Given the description of an element on the screen output the (x, y) to click on. 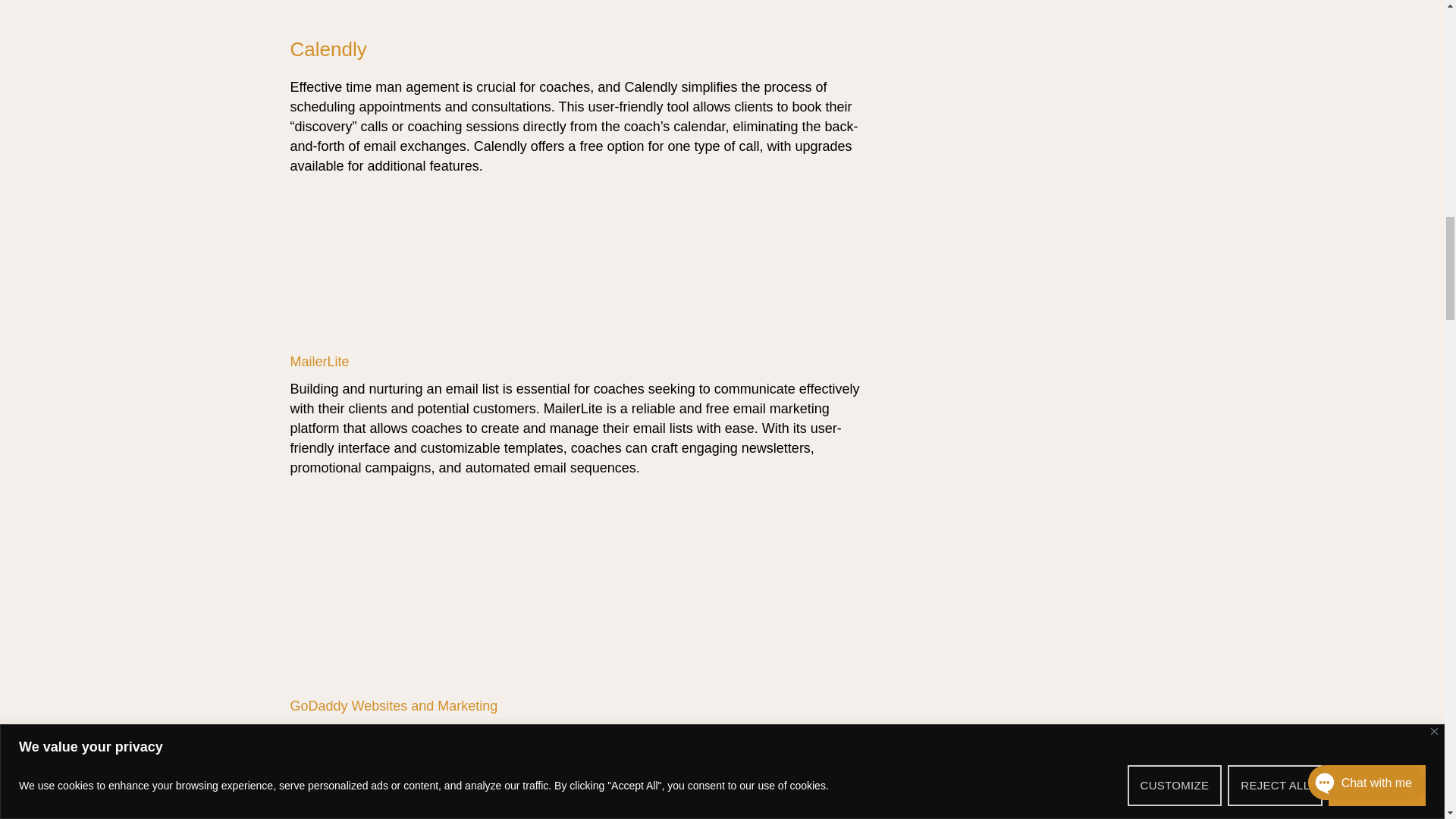
Calendly (327, 48)
GoDaddy Websites and Marketing (393, 705)
MailerLite (319, 361)
